Given the description of an element on the screen output the (x, y) to click on. 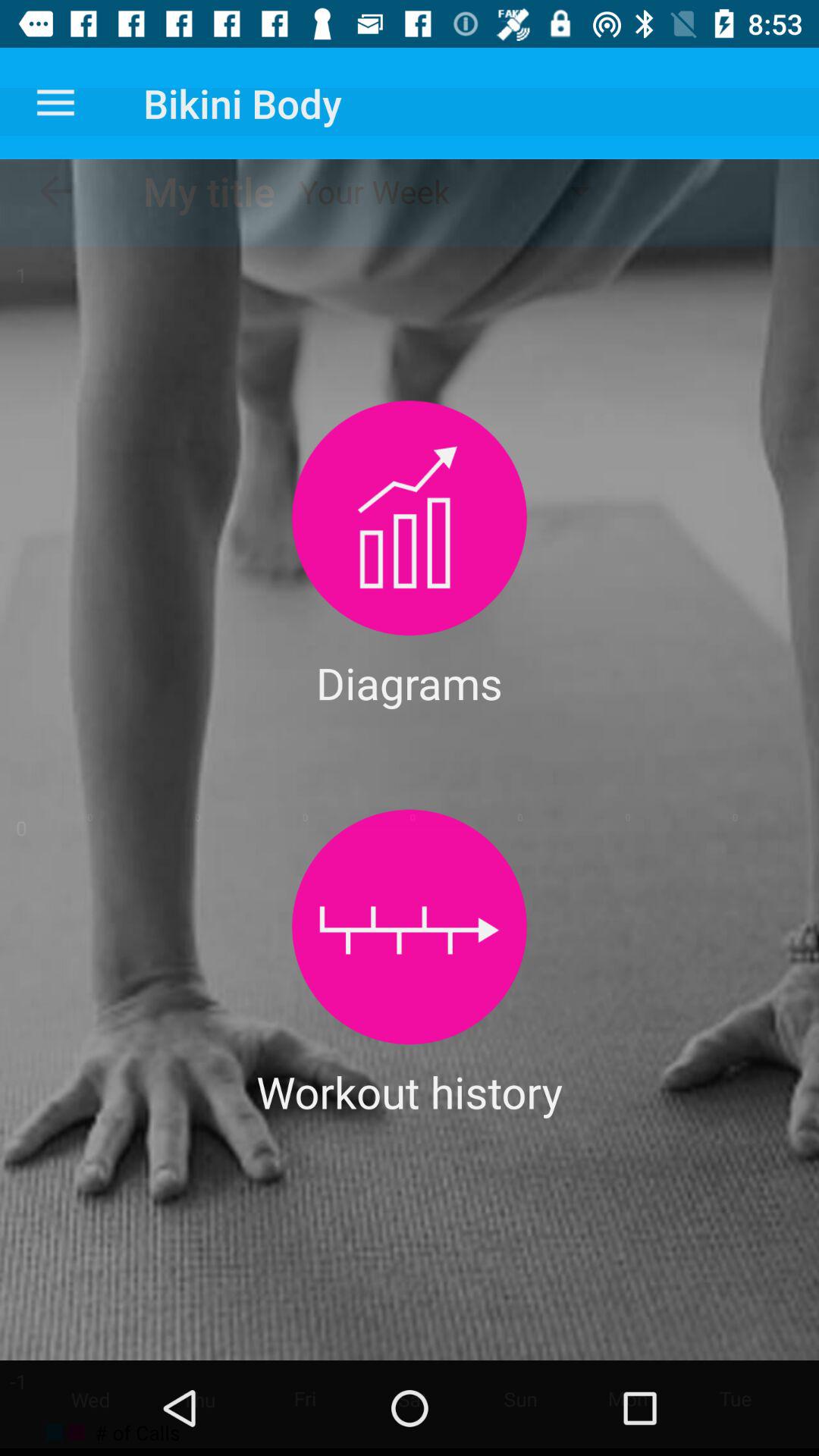
click to workout history (409, 926)
